Given the description of an element on the screen output the (x, y) to click on. 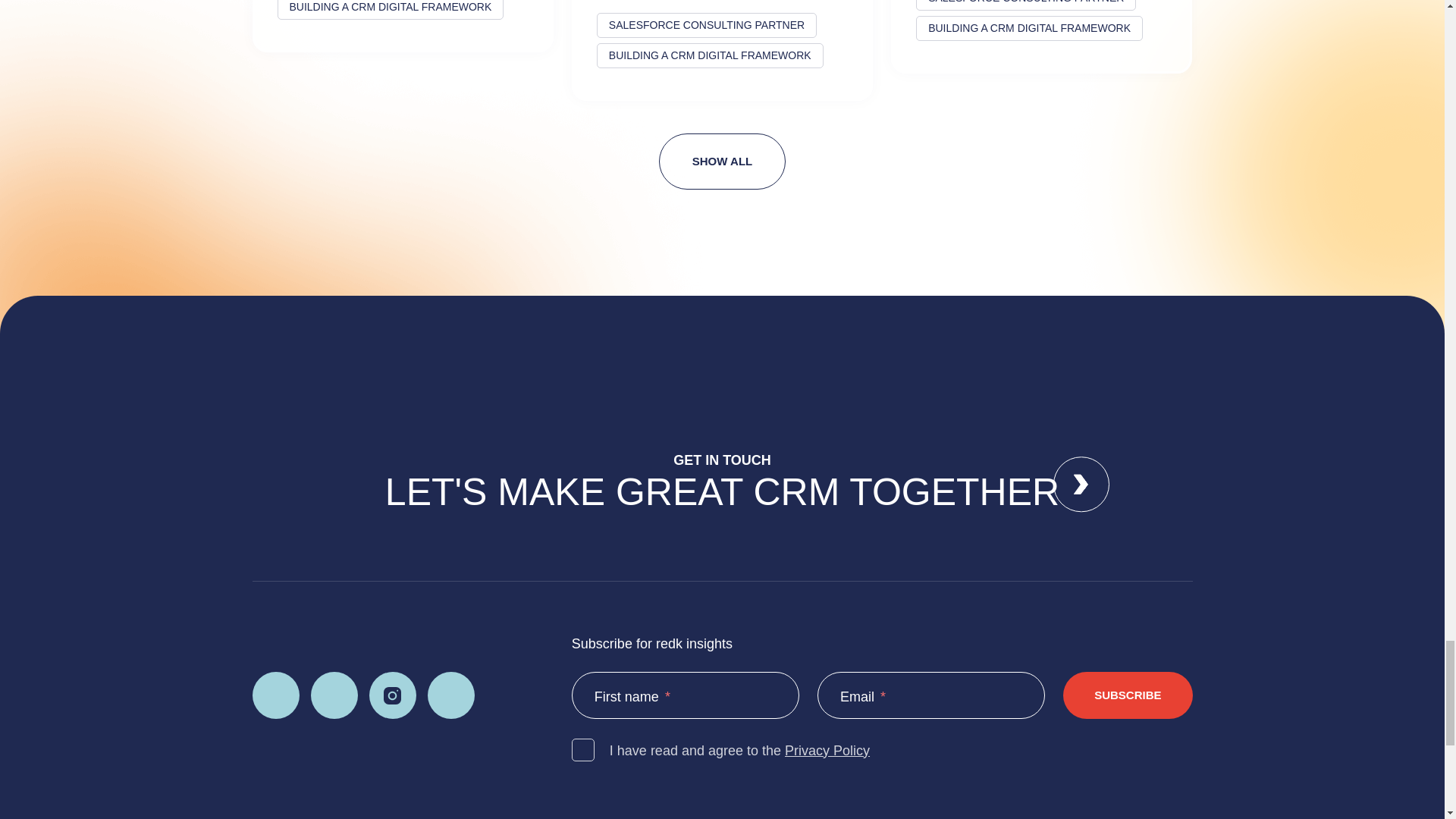
How to create a customer-obsessed organisation (722, 50)
Why a purpose-built CRM solution is the way to go (402, 26)
on (583, 749)
